Given the description of an element on the screen output the (x, y) to click on. 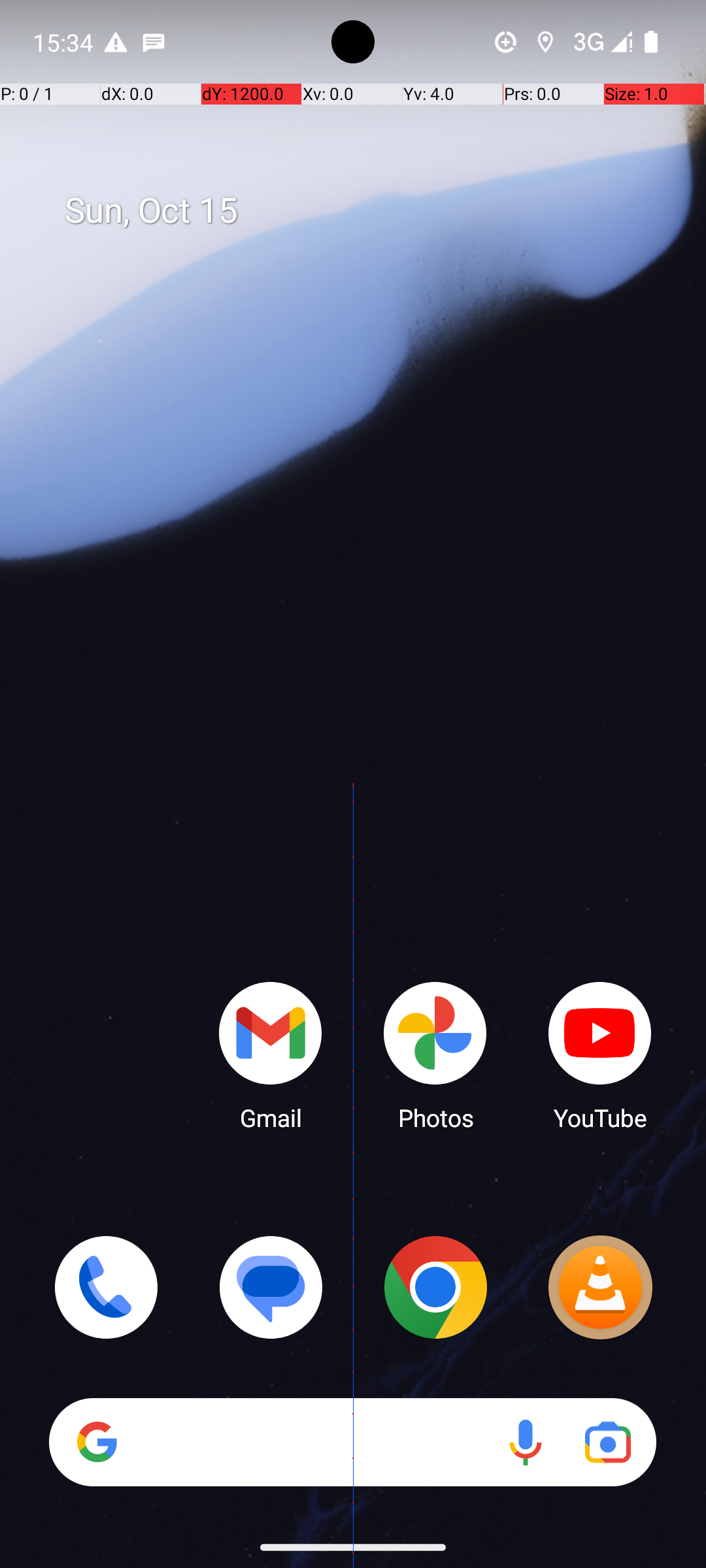
Home Element type: android.view.View (353, 804)
Phone Element type: android.widget.TextView (105, 1287)
Messages Element type: android.widget.TextView (270, 1287)
Chrome Element type: android.widget.TextView (435, 1287)
VLC Element type: android.widget.TextView (599, 1287)
Sun, Oct 15 Element type: android.widget.TextView (366, 210)
Gmail Element type: android.widget.TextView (270, 1054)
Photos Element type: android.widget.TextView (435, 1054)
YouTube Element type: android.widget.TextView (599, 1054)
Google app Element type: android.widget.ImageView (97, 1441)
Google Lens Element type: android.widget.ImageButton (607, 1442)
Data Saver is on Element type: android.widget.ImageView (505, 41)
Location requests active Element type: android.widget.ImageView (545, 41)
